Given the description of an element on the screen output the (x, y) to click on. 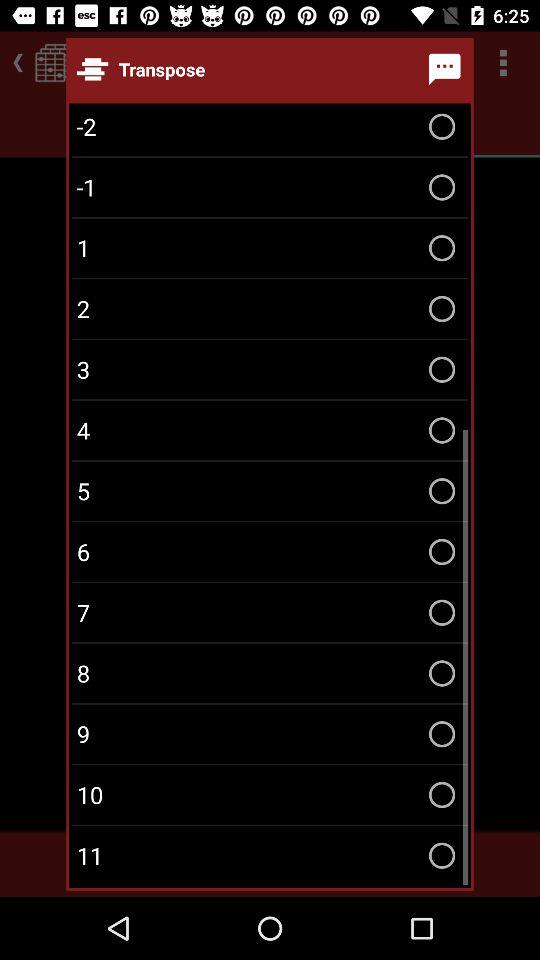
press the item below 6 item (269, 612)
